Given the description of an element on the screen output the (x, y) to click on. 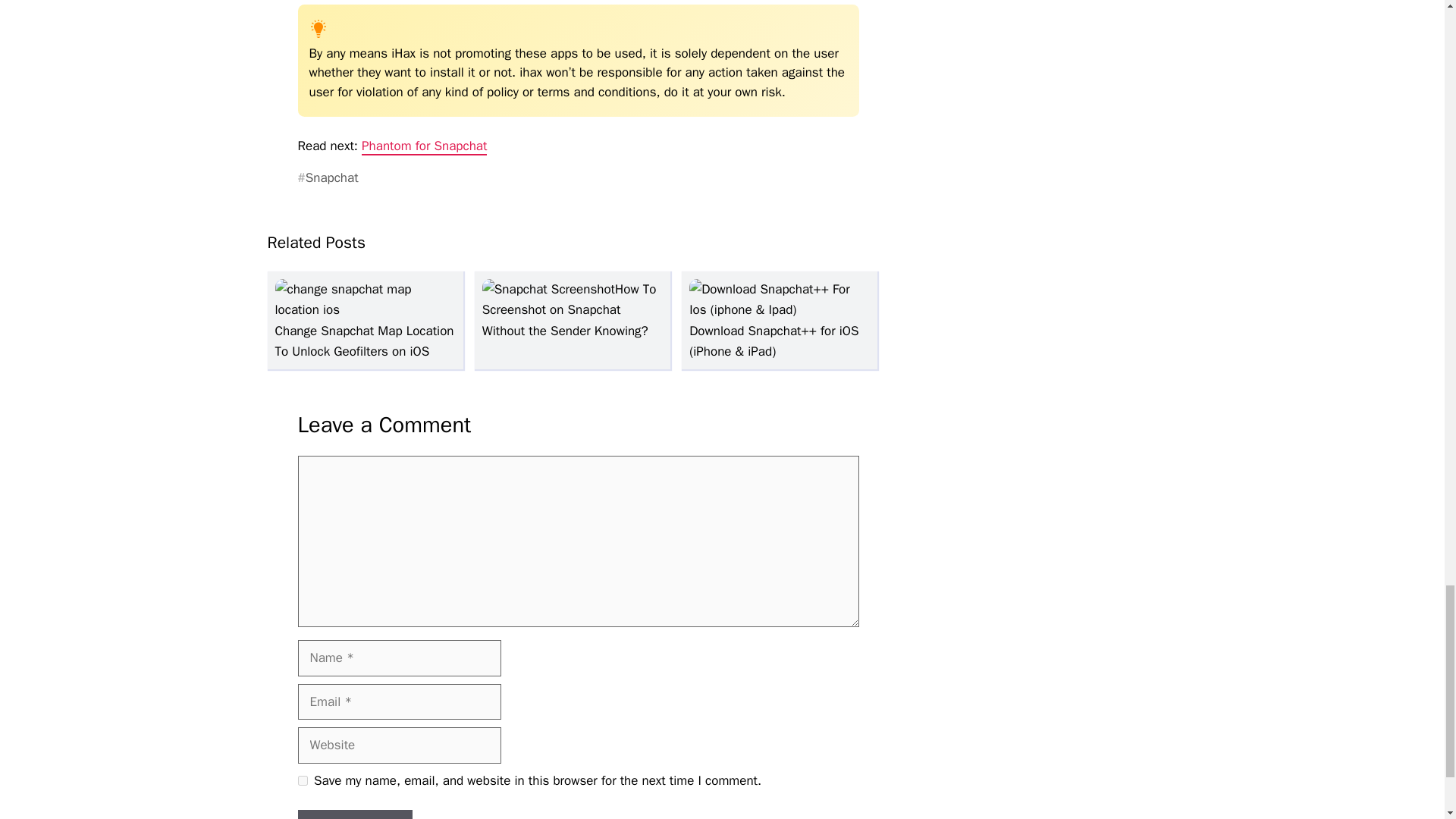
Phantom for Snapchat (423, 146)
yes (302, 780)
Change Snapchat Map Location To Unlock Geofilters on iOS (364, 330)
Post Comment (354, 814)
How To Screenshot on Snapchat Without the Sender Knowing? (568, 309)
Post Comment (354, 814)
Snapchat (327, 178)
